Given the description of an element on the screen output the (x, y) to click on. 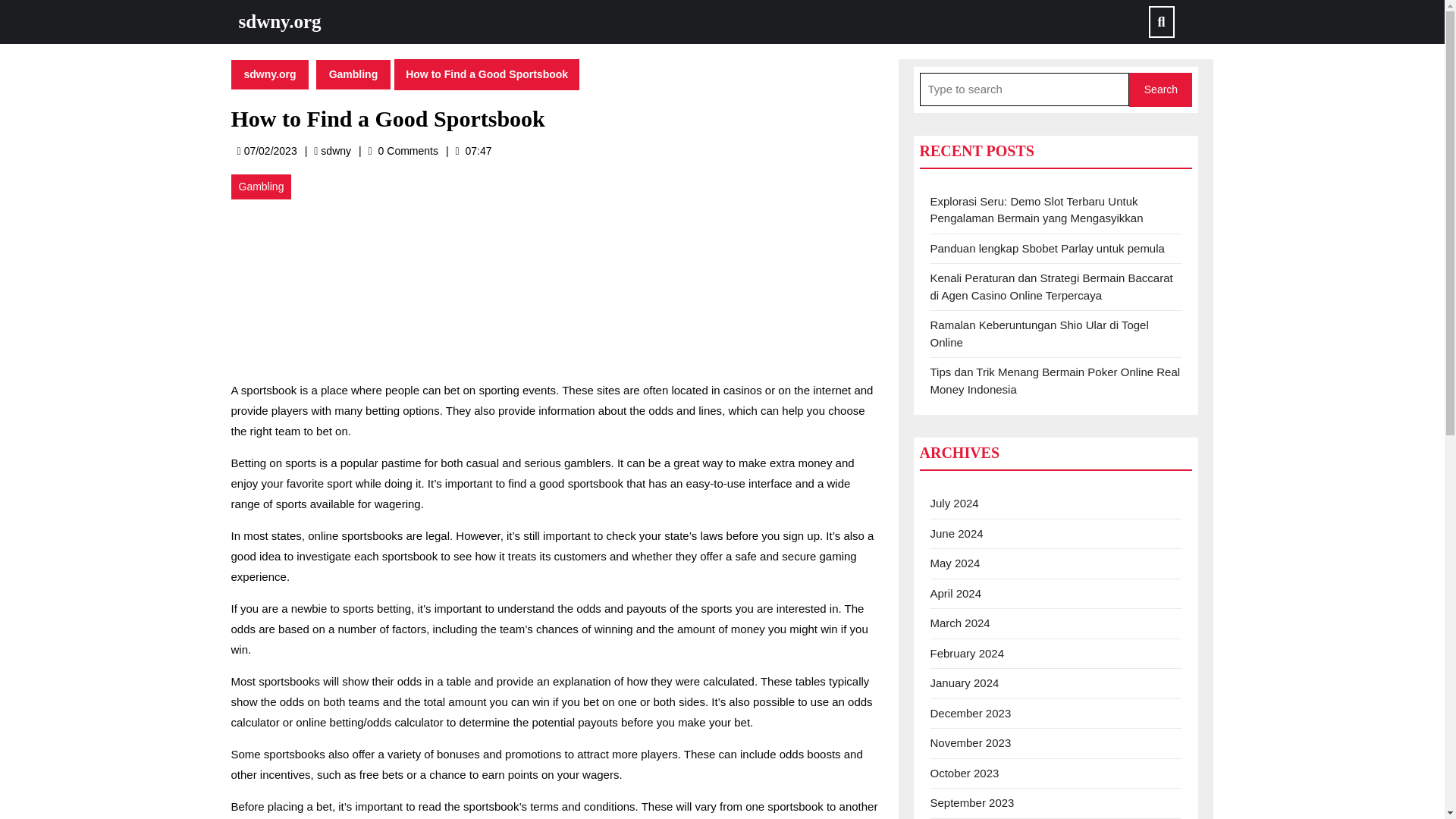
sdwny.org (269, 73)
Search (1160, 89)
Gambling (260, 186)
Ramalan Keberuntungan Shio Ular di Togel Online (1039, 333)
June 2024 (956, 532)
April 2024 (955, 593)
July 2024 (954, 502)
Search (335, 150)
November 2023 (1160, 89)
March 2024 (970, 742)
Panduan lengkap Sbobet Parlay untuk pemula (960, 622)
January 2024 (1046, 246)
October 2023 (964, 682)
